Given the description of an element on the screen output the (x, y) to click on. 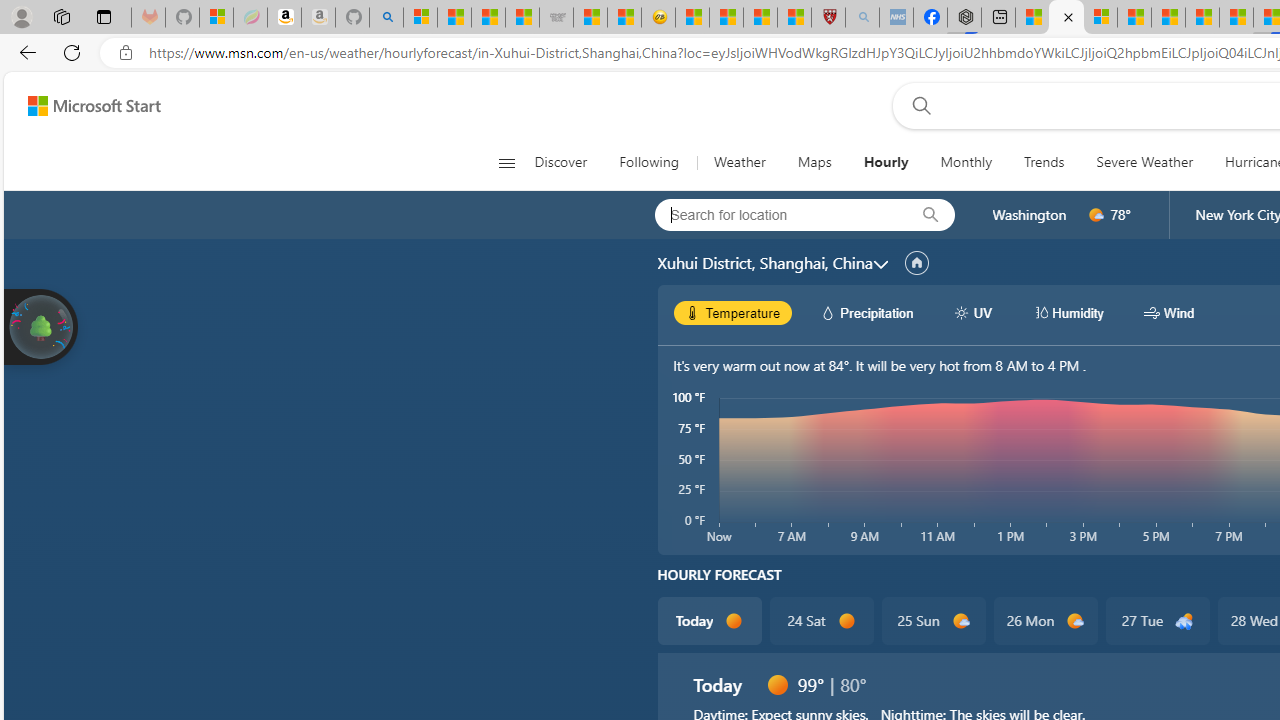
27 Tue d2200 (1156, 620)
hourlyChart/uvWhite (961, 312)
Search for location (775, 214)
25 Sun d1000 (932, 620)
14 Common Myths Debunked By Scientific Facts (1202, 17)
Today d0000 (708, 620)
Monthly (966, 162)
